Given the description of an element on the screen output the (x, y) to click on. 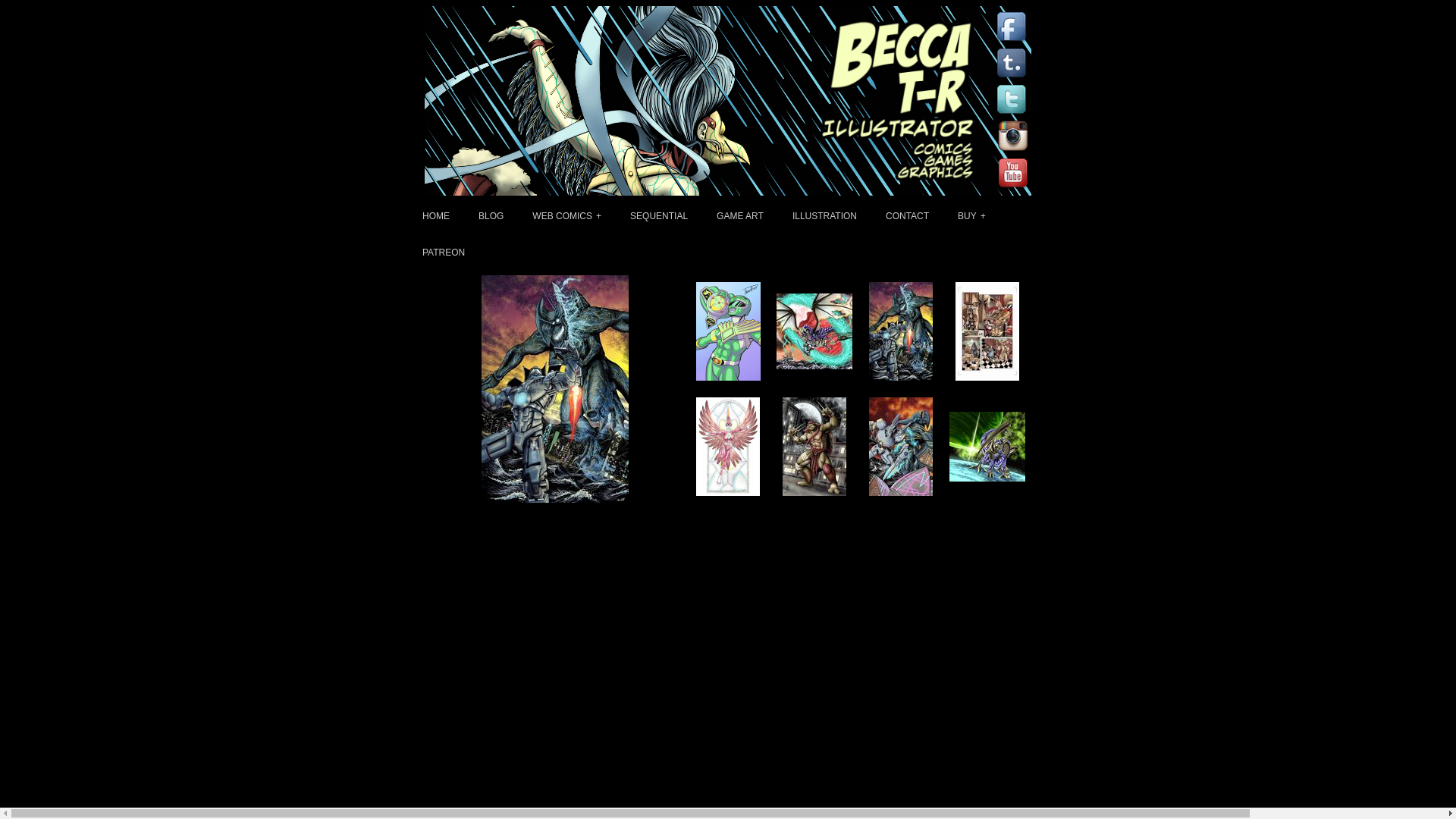
SEQUENTIAL Element type: text (658, 215)
HOME Element type: text (435, 215)
BLOG Element type: text (490, 215)
CONTACT Element type: text (907, 215)
GAME ART Element type: text (740, 215)
WEB COMICS Element type: text (566, 215)
PATREON Element type: text (443, 252)
BUY Element type: text (971, 215)
ILLUSTRATION Element type: text (824, 215)
